Given the description of an element on the screen output the (x, y) to click on. 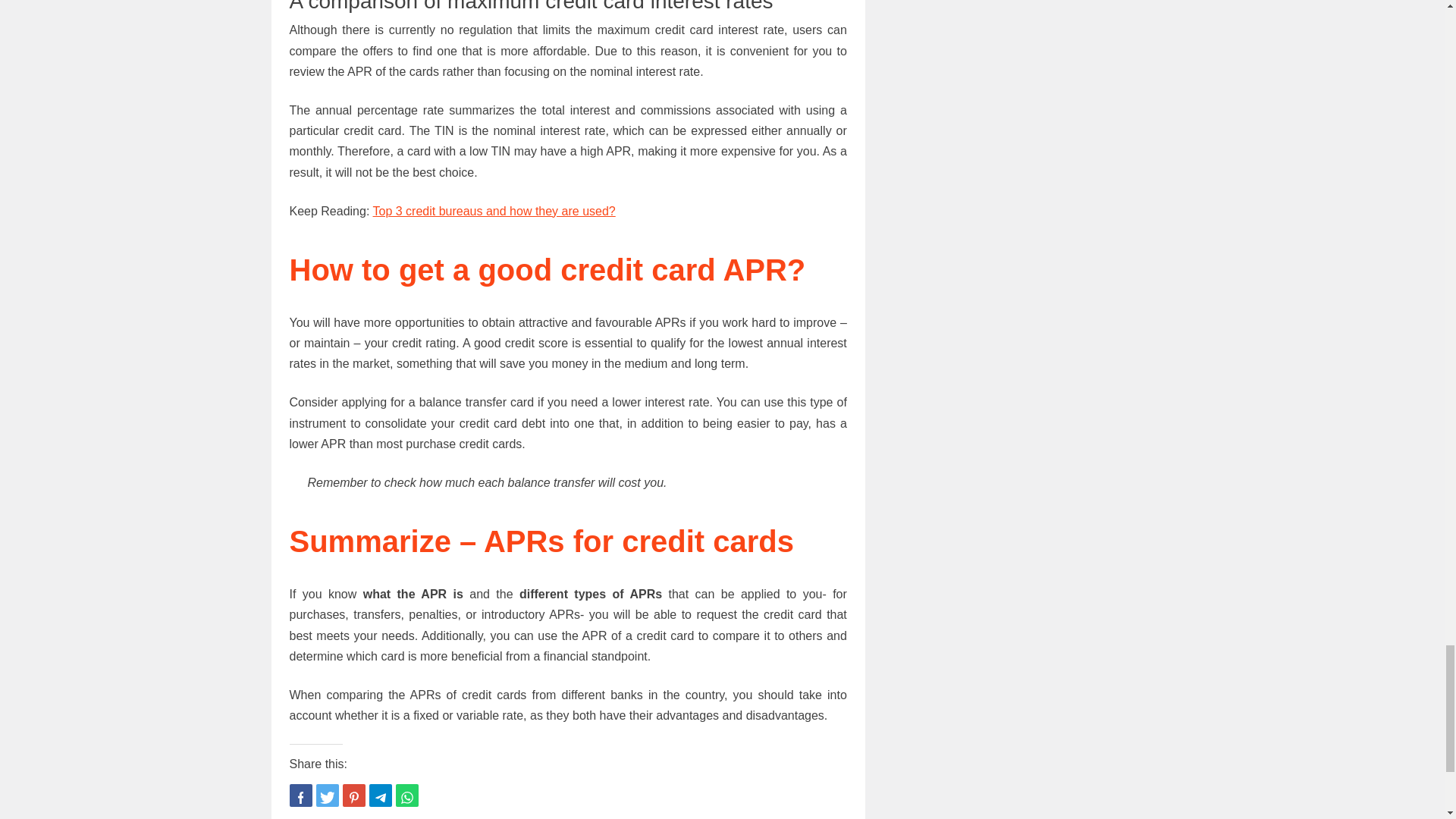
Telegram Share (379, 794)
Share this (301, 794)
Tweet this (326, 794)
Pin this (353, 794)
Whatsapp (407, 794)
